Given the description of an element on the screen output the (x, y) to click on. 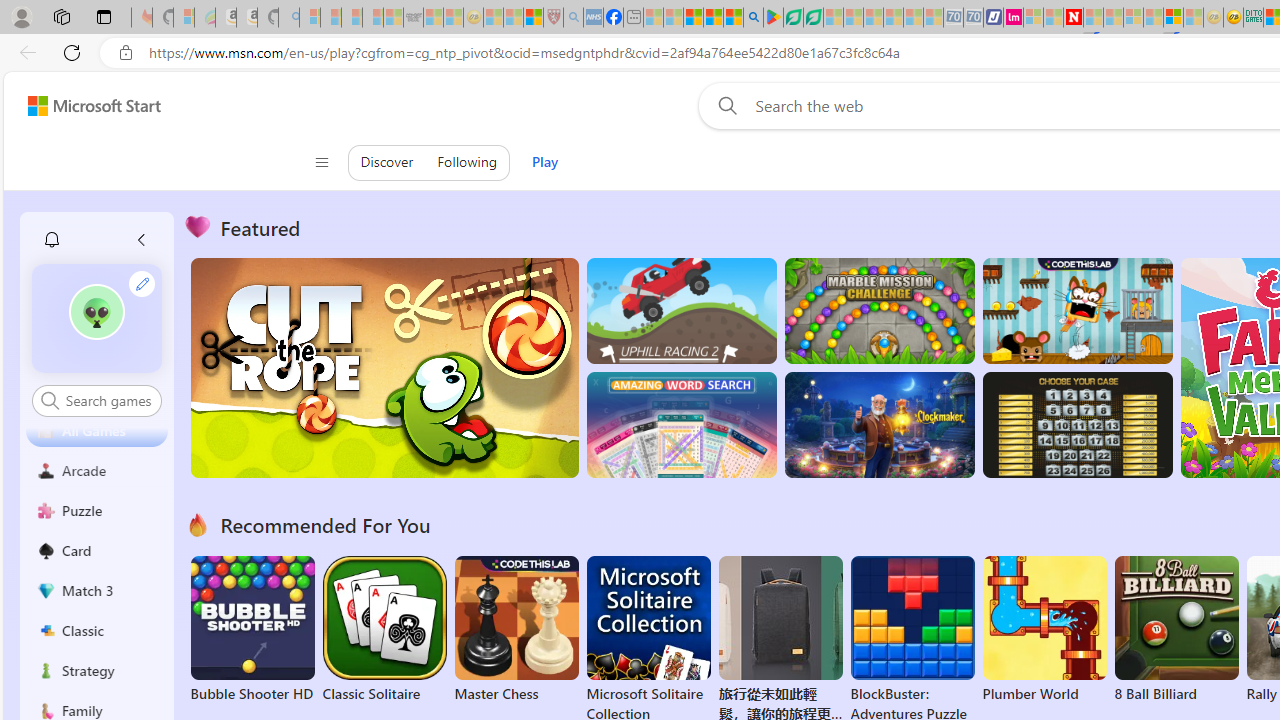
Cut the Rope (383, 367)
Master Chess (516, 629)
Clockmaker (879, 425)
Amazing Word Search (681, 425)
Up Hill Racing 2 (681, 310)
Jobs - lastminute.com Investor Portal (1012, 17)
